Given the description of an element on the screen output the (x, y) to click on. 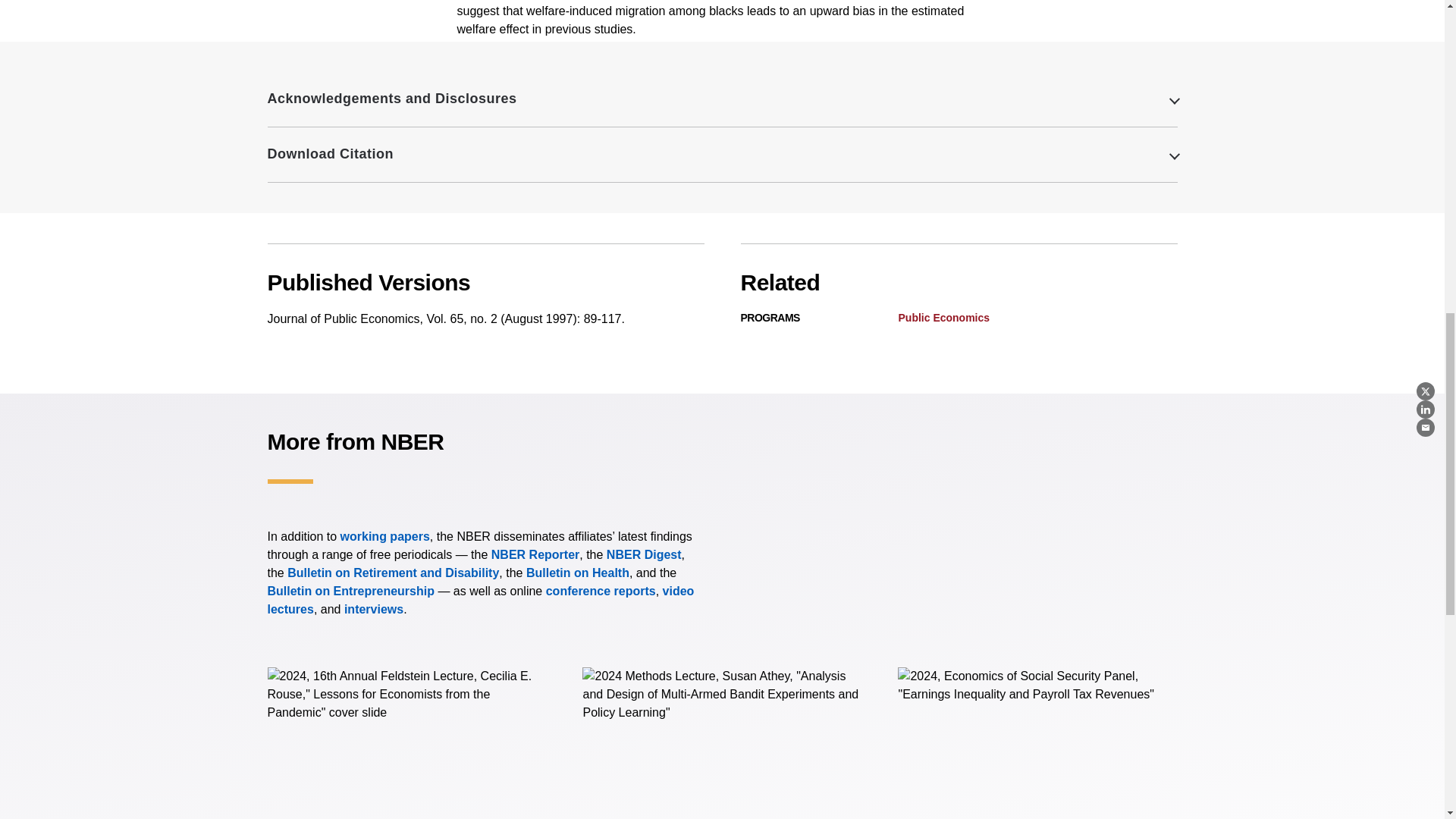
Working Papers (384, 535)
Conferences (601, 590)
Lectures (480, 599)
Research Spotlights (373, 608)
